Given the description of an element on the screen output the (x, y) to click on. 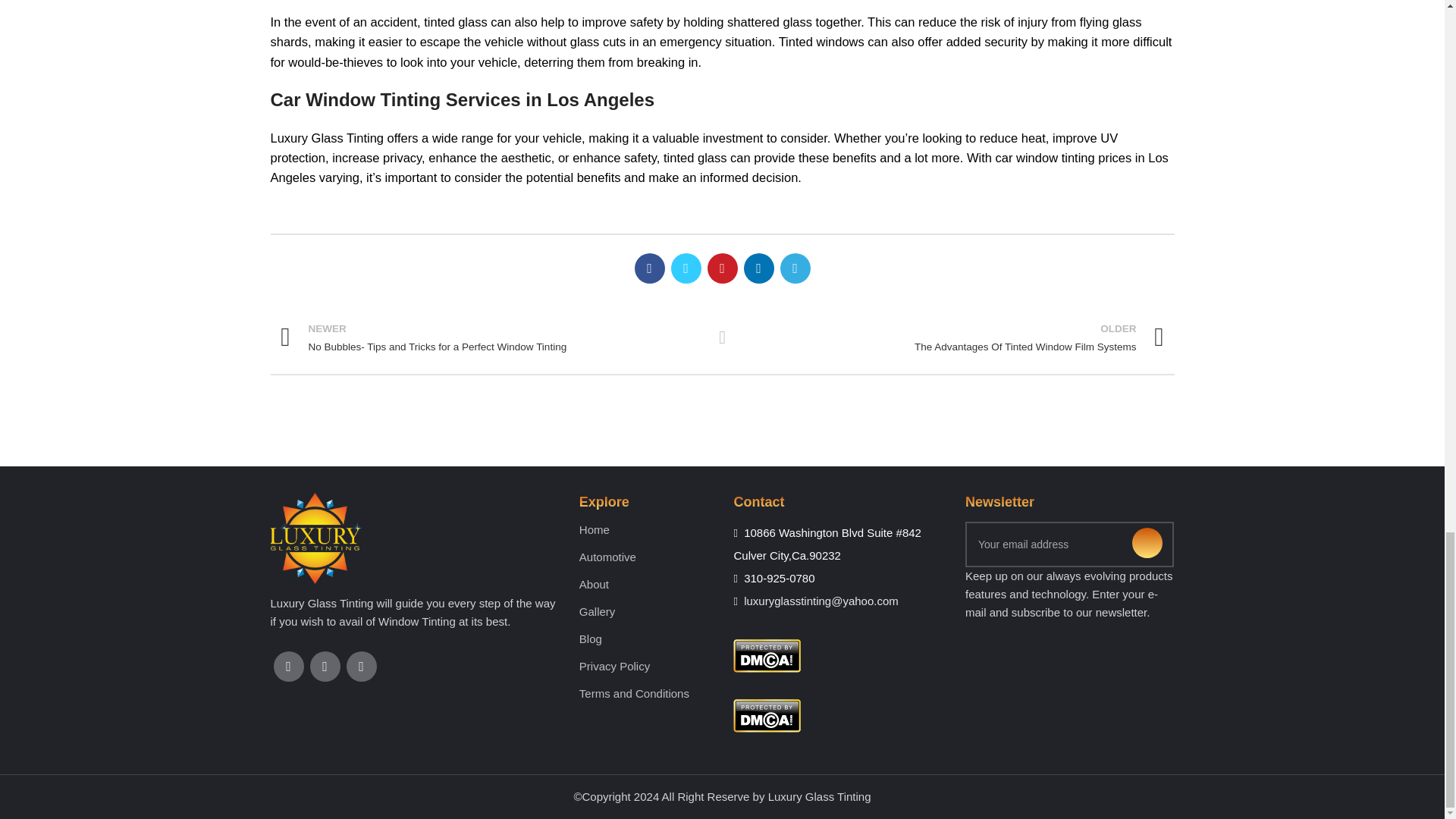
DMCA.com Protection Status (766, 714)
cropped-logo-4 (315, 538)
DMCA.com Protection Status (766, 654)
